Given the description of an element on the screen output the (x, y) to click on. 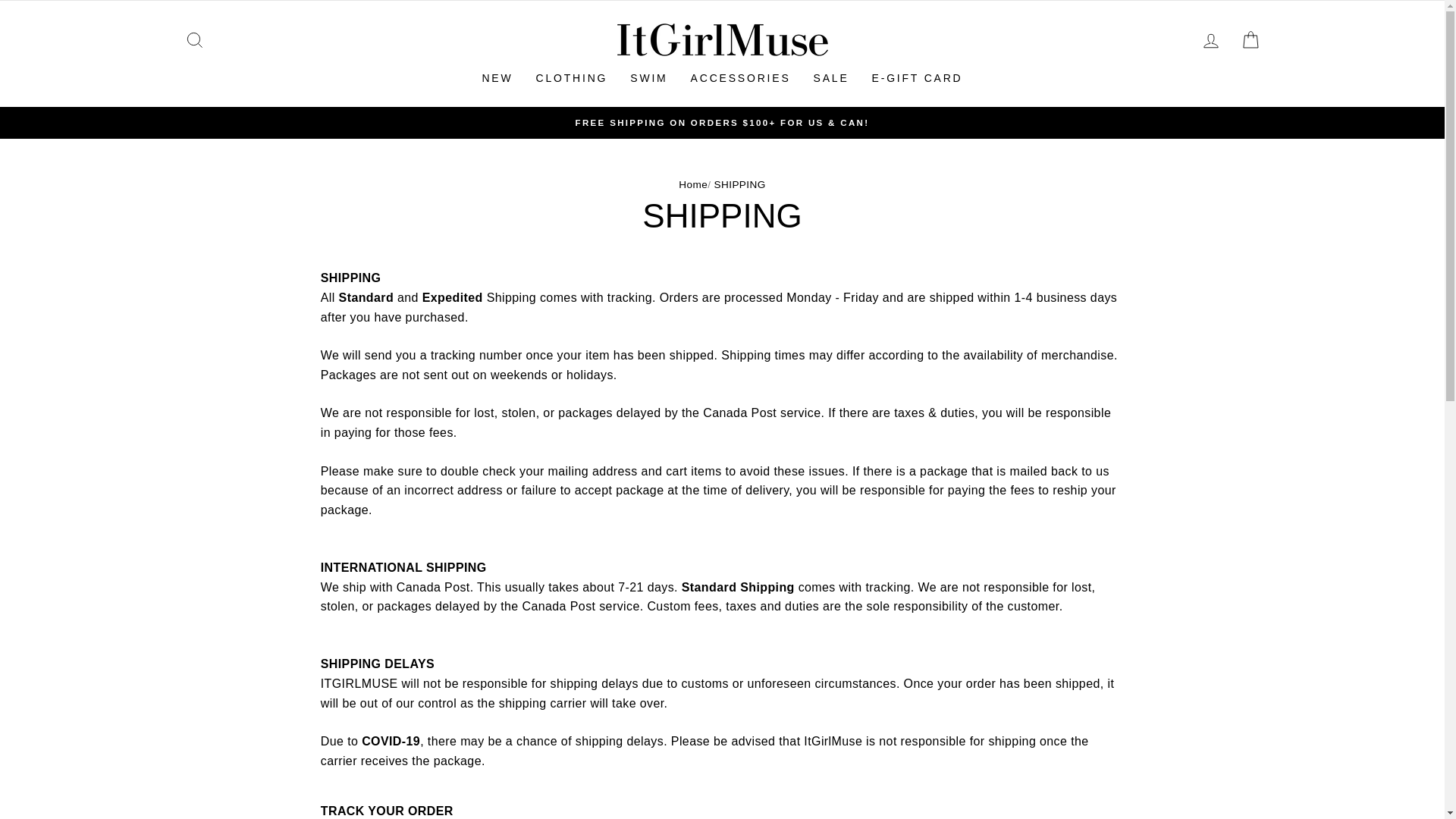
SEARCH (194, 39)
SWIM (648, 77)
LOG IN (1210, 39)
E-GIFT CARD (917, 77)
ACCESSORIES (740, 77)
CLOTHING (572, 77)
Home (692, 184)
Back to the frontpage (692, 184)
SALE (831, 77)
CART (1249, 39)
NEW (497, 77)
